Given the description of an element on the screen output the (x, y) to click on. 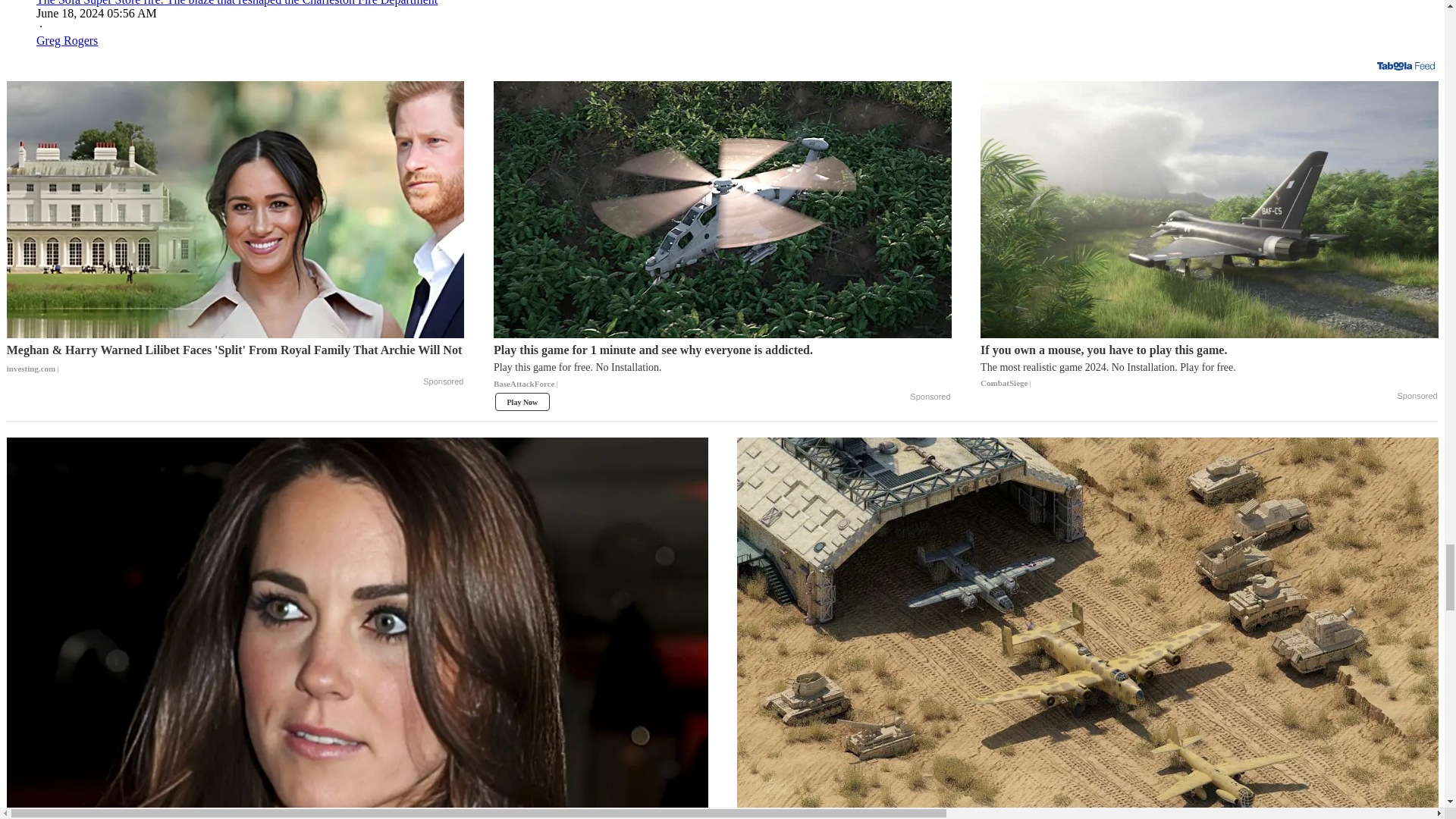
If you own a mouse, you have to play this game. (1208, 210)
"Description: Play this game for free. No Installation." (722, 367)
If you own a mouse, you have to play this game. (1208, 366)
